Given the description of an element on the screen output the (x, y) to click on. 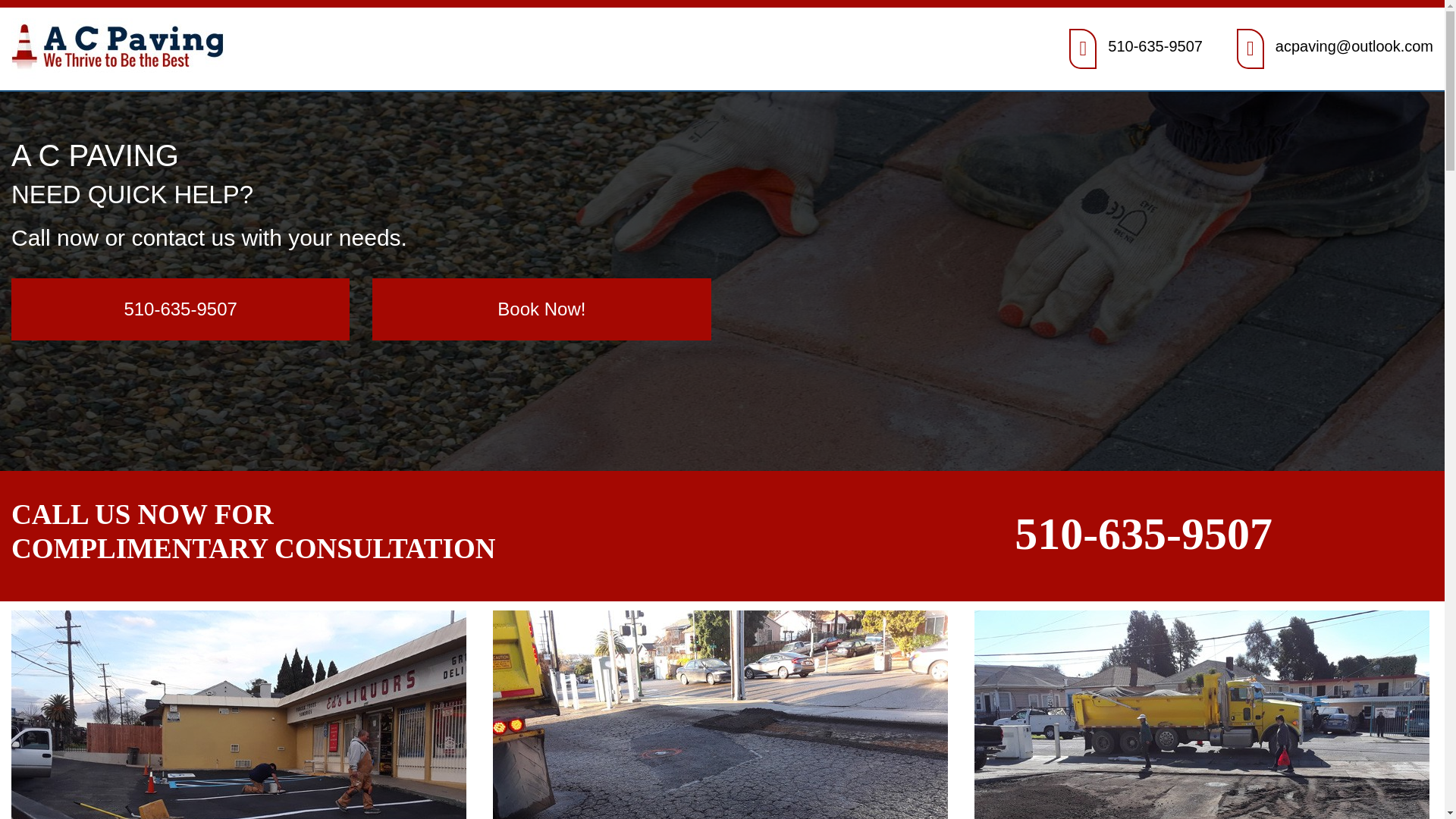
510-635-9507 (180, 309)
Book Now! (541, 309)
510-635-9507 (1155, 45)
510-635-9507 (1142, 533)
